Given the description of an element on the screen output the (x, y) to click on. 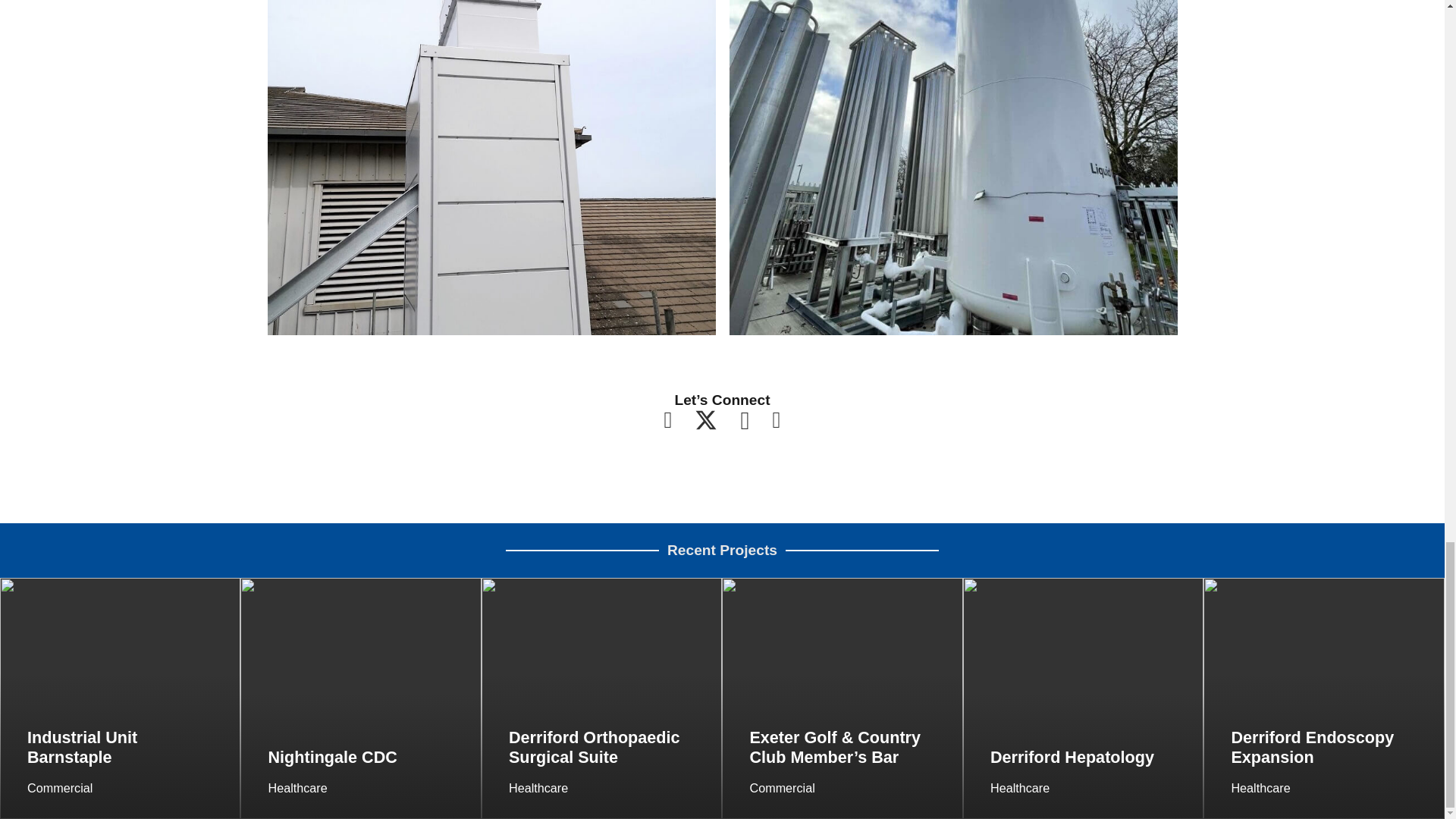
Healthcare (1019, 787)
Instagram (744, 421)
Healthcare (537, 787)
Twitter (705, 420)
Commercial (781, 787)
LinkedIn (776, 419)
Commercial (60, 787)
Facebook (667, 419)
Healthcare (296, 787)
